Given the description of an element on the screen output the (x, y) to click on. 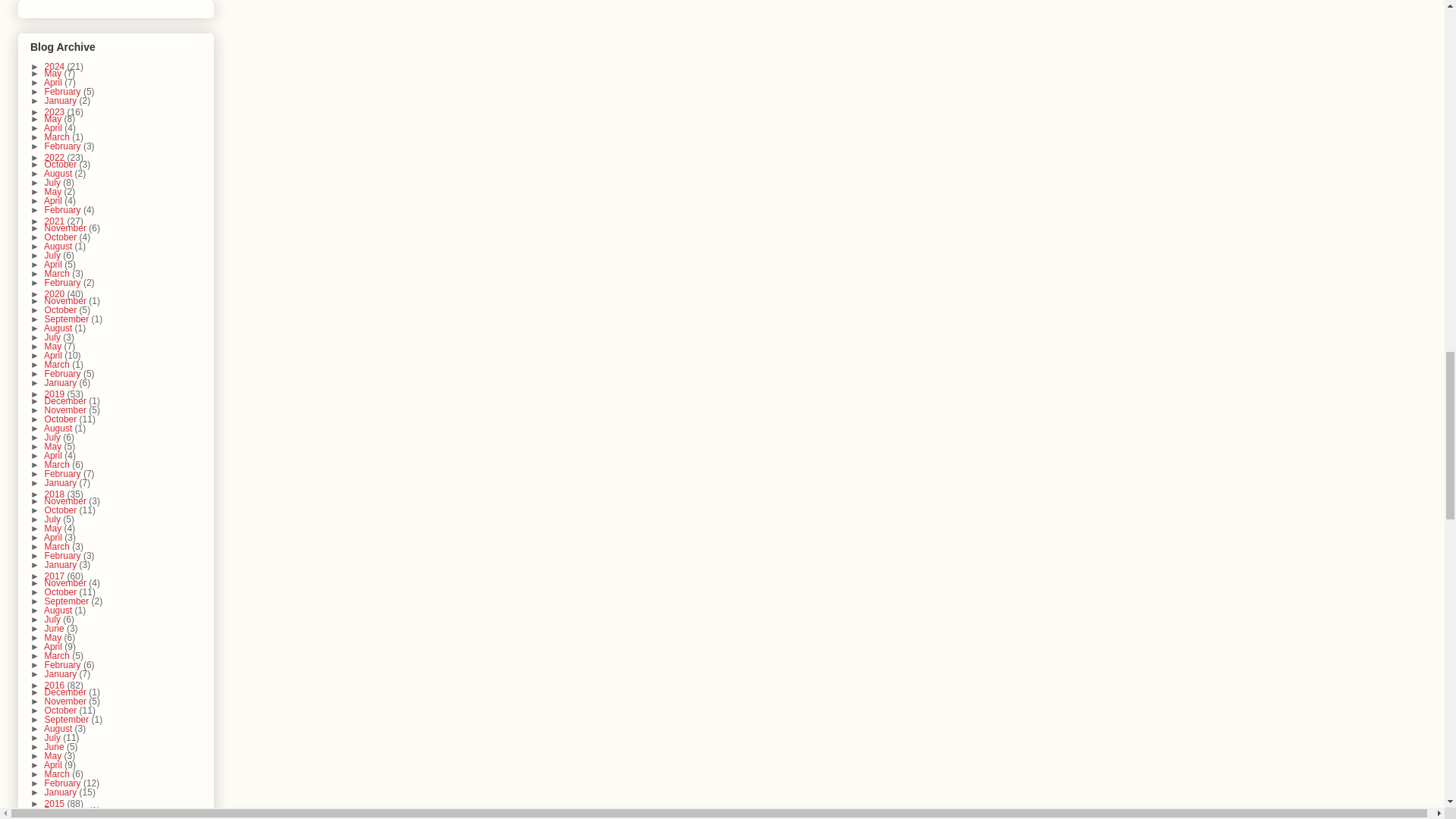
April (53, 81)
January (62, 100)
May (54, 72)
February (63, 91)
2024 (55, 66)
